Given the description of an element on the screen output the (x, y) to click on. 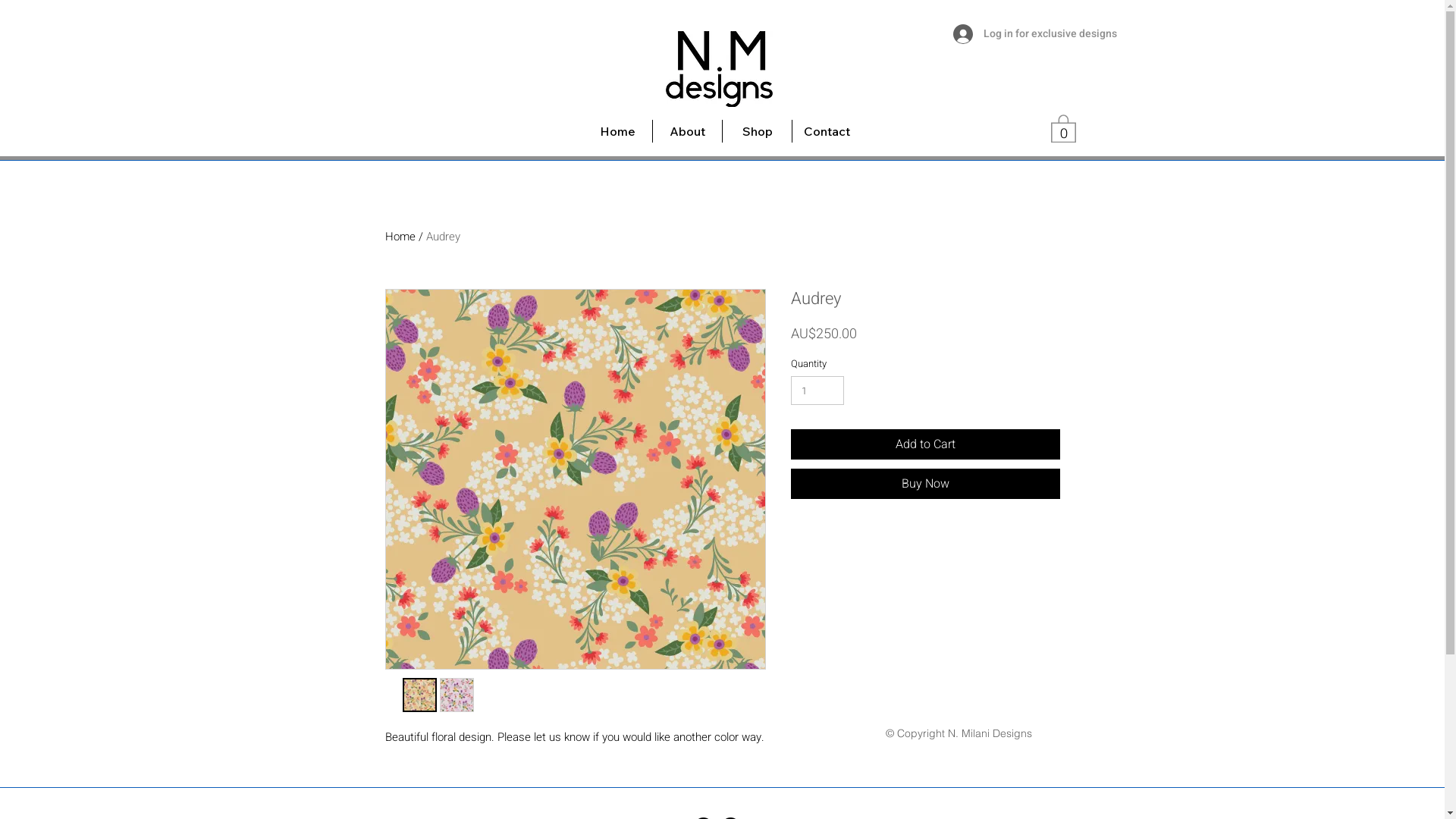
About Element type: text (686, 130)
Shop Element type: text (756, 130)
Audrey Element type: text (443, 236)
Buy Now Element type: text (924, 483)
Home Element type: text (617, 130)
0 Element type: text (1063, 127)
Add to Cart Element type: text (924, 444)
Log in for exclusive designs Element type: text (1011, 33)
Contact Element type: text (826, 130)
Home Element type: text (400, 236)
